Given the description of an element on the screen output the (x, y) to click on. 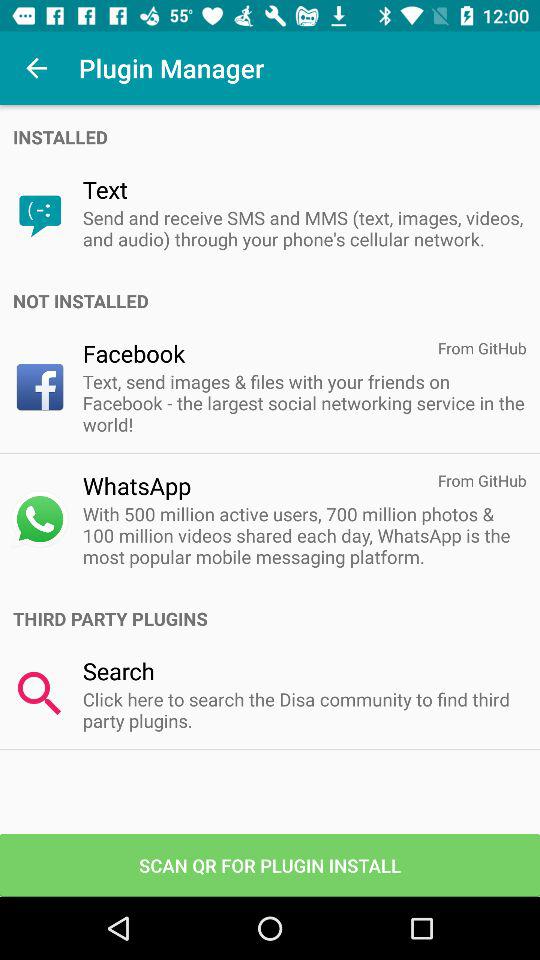
select the item above third party plugins (304, 535)
